Given the description of an element on the screen output the (x, y) to click on. 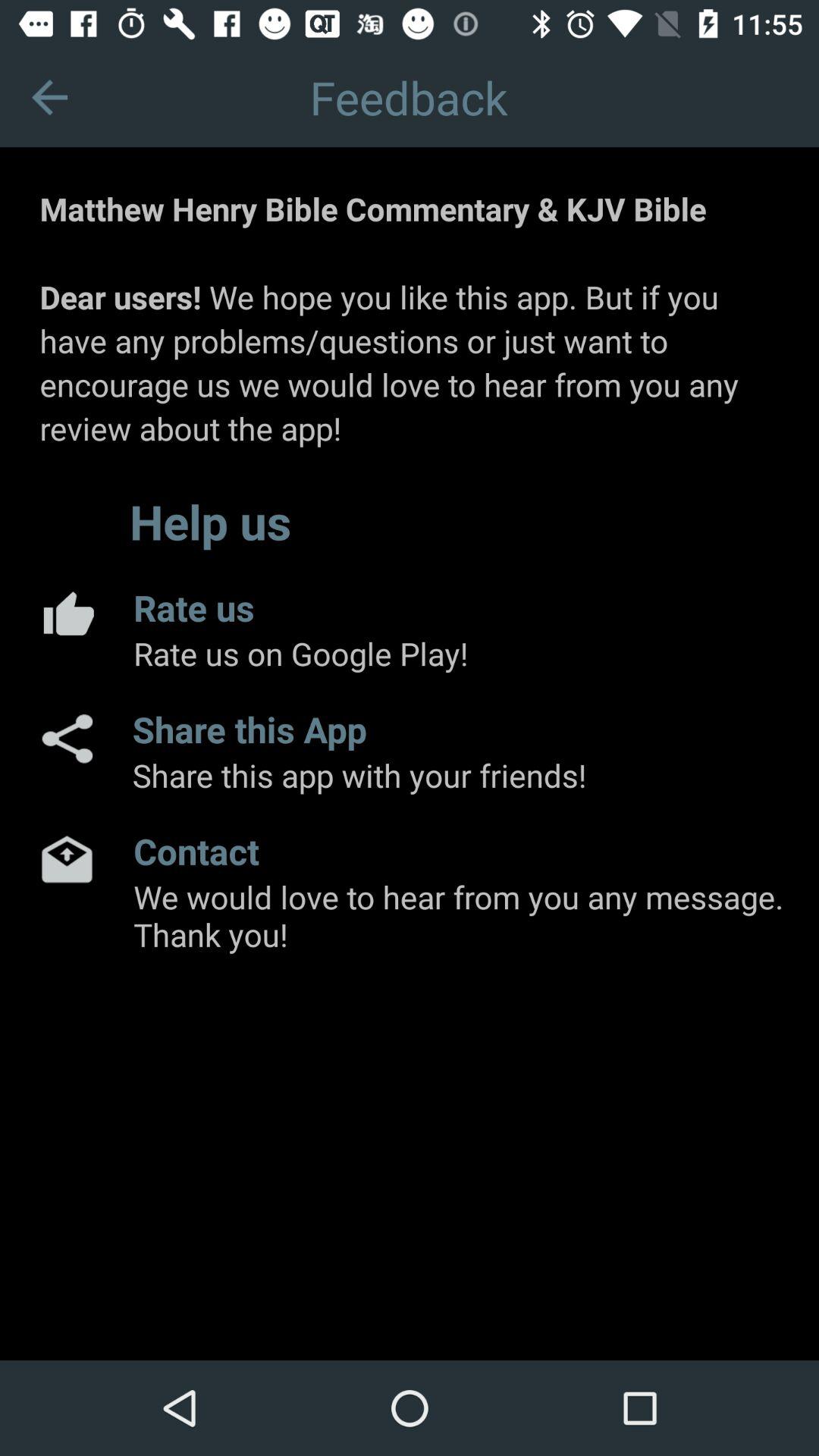
share the app (65, 738)
